Given the description of an element on the screen output the (x, y) to click on. 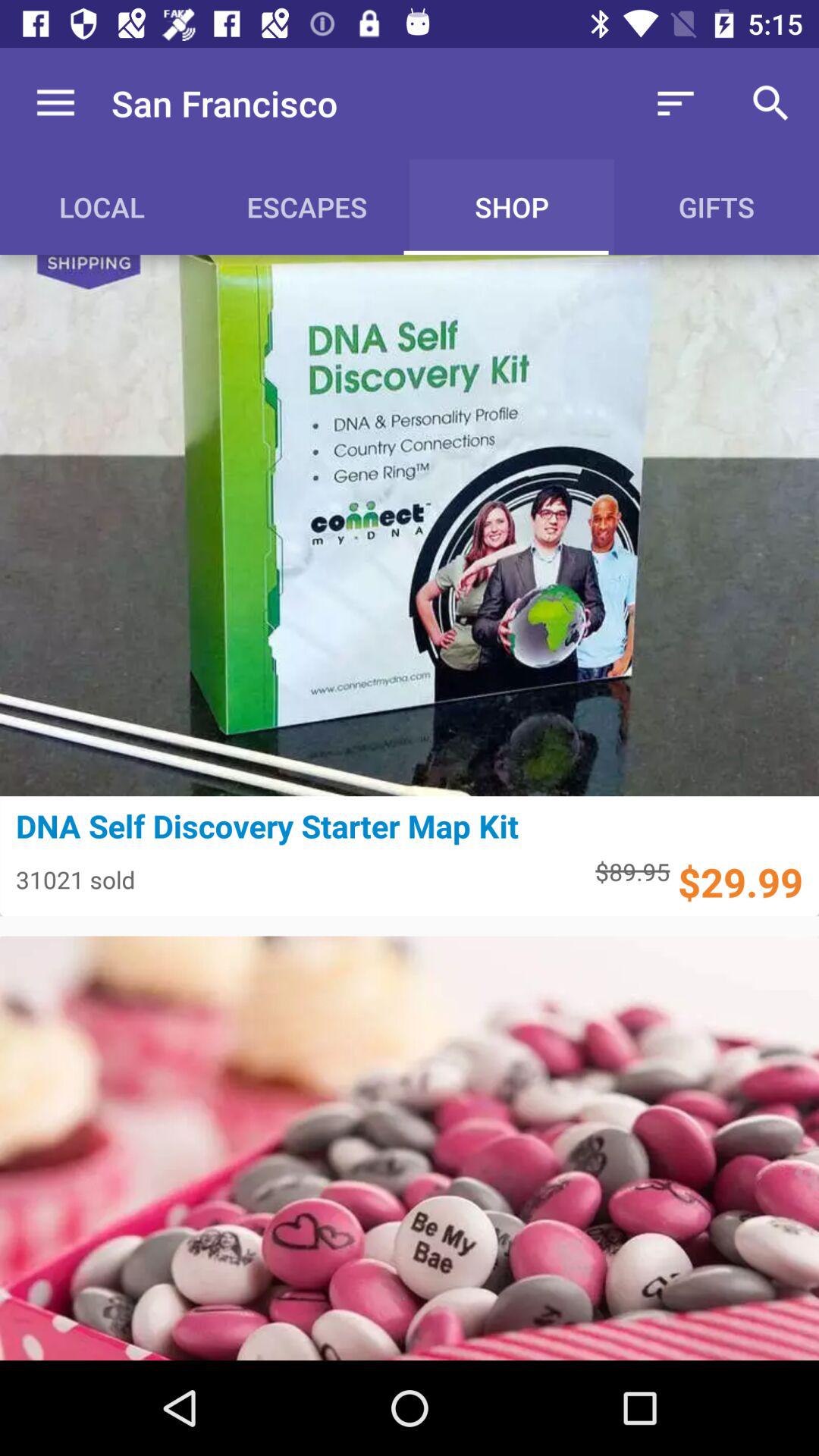
click san francisco (224, 103)
